Given the description of an element on the screen output the (x, y) to click on. 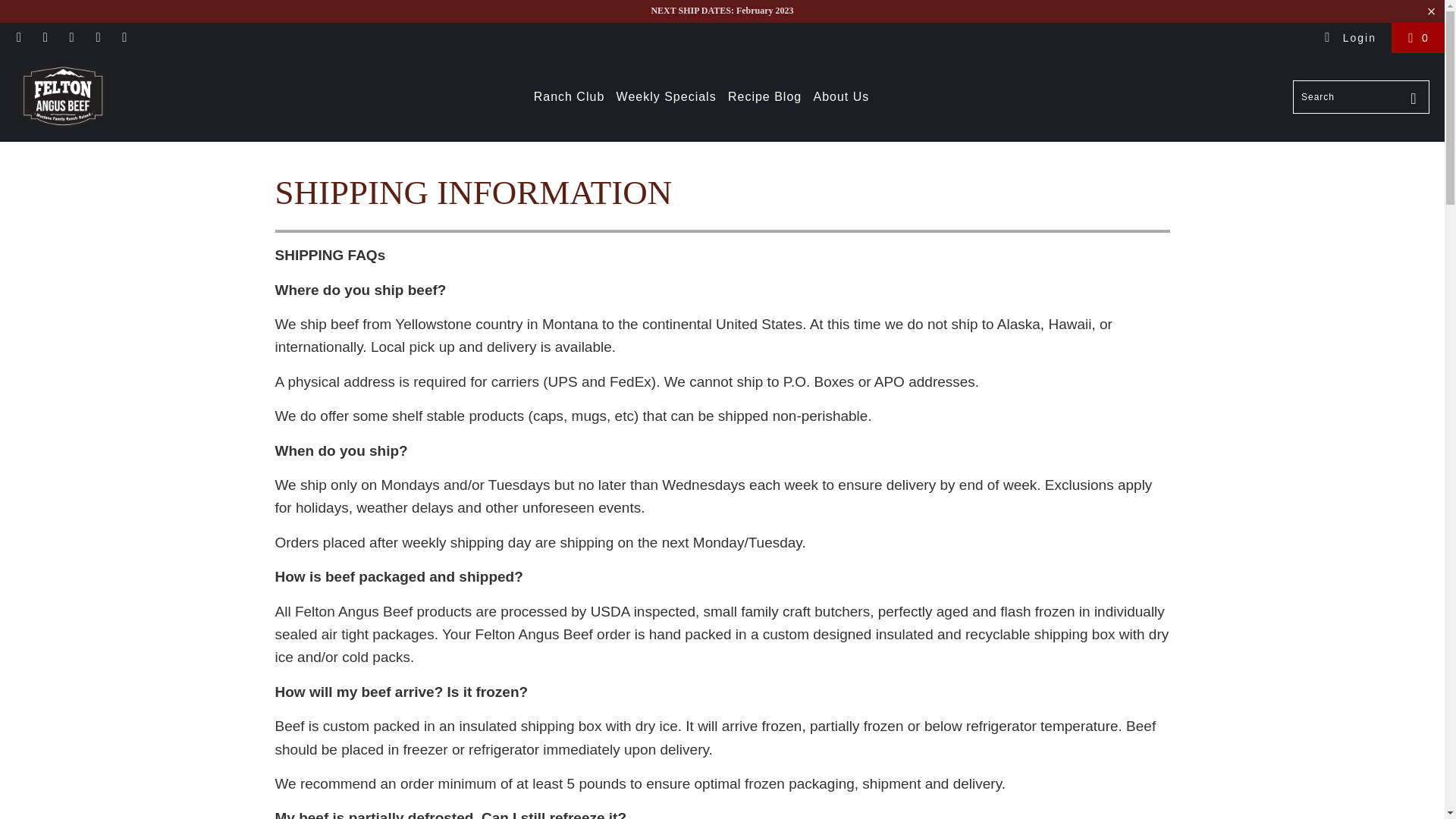
About Us (840, 96)
Felton Angus Beef on Pinterest (72, 37)
Felton Angus Beef (62, 97)
Weekly Specials (665, 96)
Login (1349, 37)
Recipe Blog (765, 96)
Email Felton Angus Beef (124, 37)
My Account  (1349, 37)
Ranch Club (569, 96)
Felton Angus Beef on Facebook (18, 37)
Felton Angus Beef on YouTube (44, 37)
Felton Angus Beef on Instagram (97, 37)
